Given the description of an element on the screen output the (x, y) to click on. 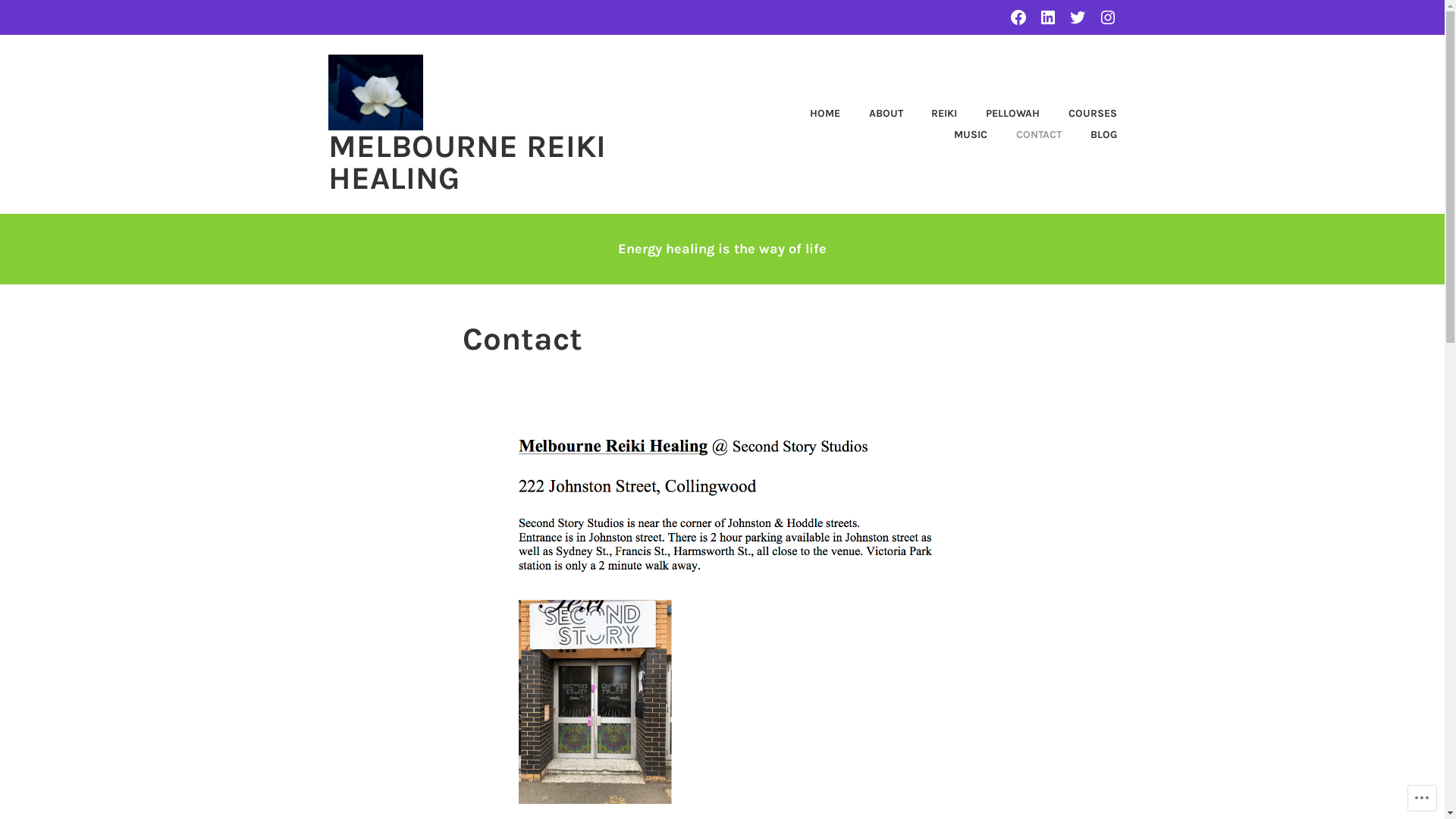
PELLOWAH Element type: text (999, 113)
ABOUT Element type: text (873, 113)
BLOG Element type: text (1090, 134)
COURSES Element type: text (1079, 113)
MELBOURNE REIKI HEALING Element type: text (466, 162)
Search Element type: text (45, 17)
HOME Element type: text (812, 113)
REIKI Element type: text (931, 113)
MUSIC Element type: text (958, 134)
CONTACT Element type: text (1025, 134)
